Given the description of an element on the screen output the (x, y) to click on. 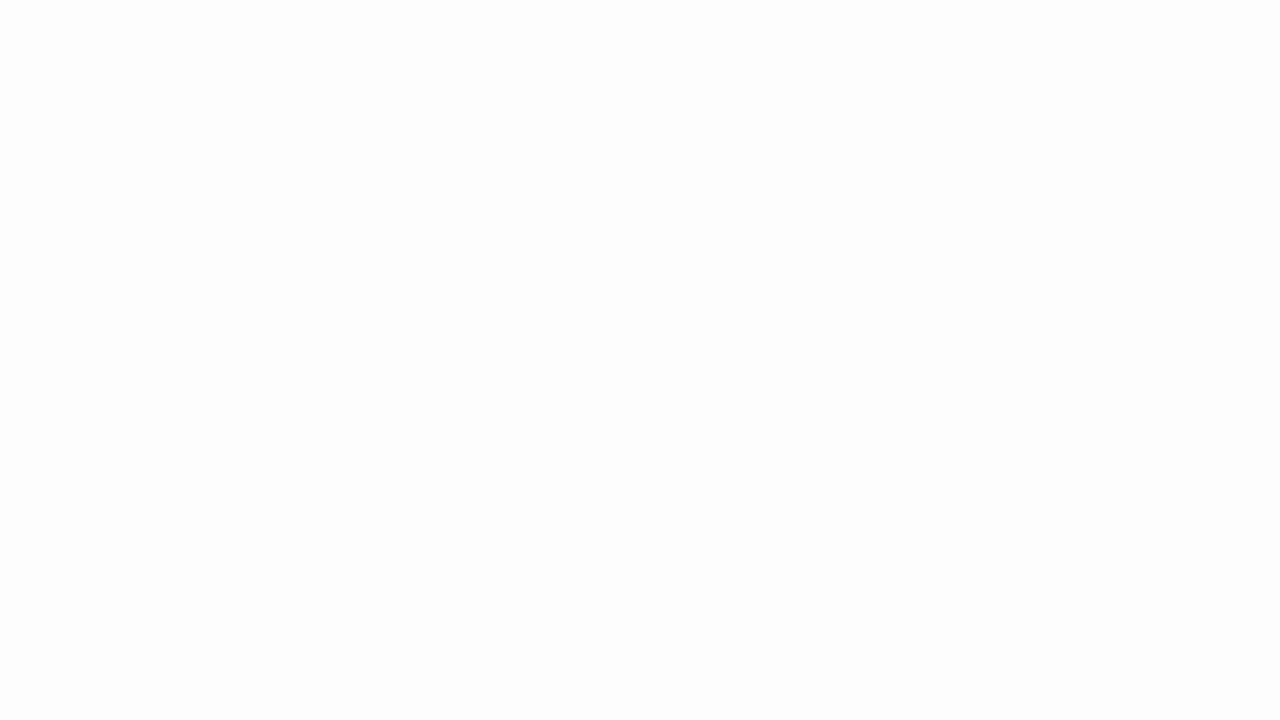
Copy (85, 103)
AutoSave (68, 16)
Bottom Align (509, 87)
Format Cell Font (434, 151)
Increase Font Size (399, 87)
Font Color (370, 119)
Fill Color RGB(255, 255, 0) (324, 119)
Office Clipboard... (156, 151)
